Given the description of an element on the screen output the (x, y) to click on. 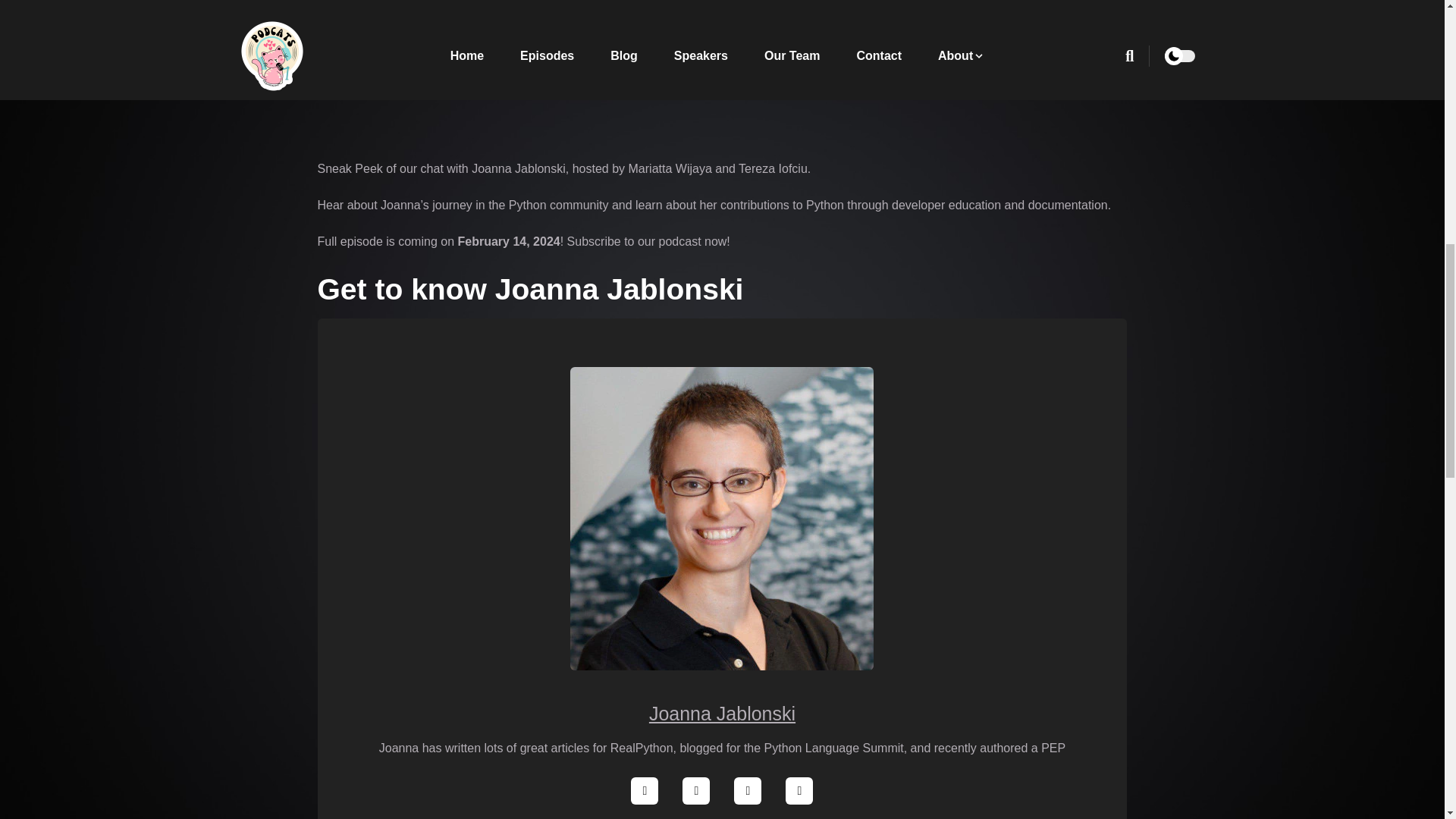
Joanna Jablonski (721, 712)
YouTube Video (721, 71)
